Given the description of an element on the screen output the (x, y) to click on. 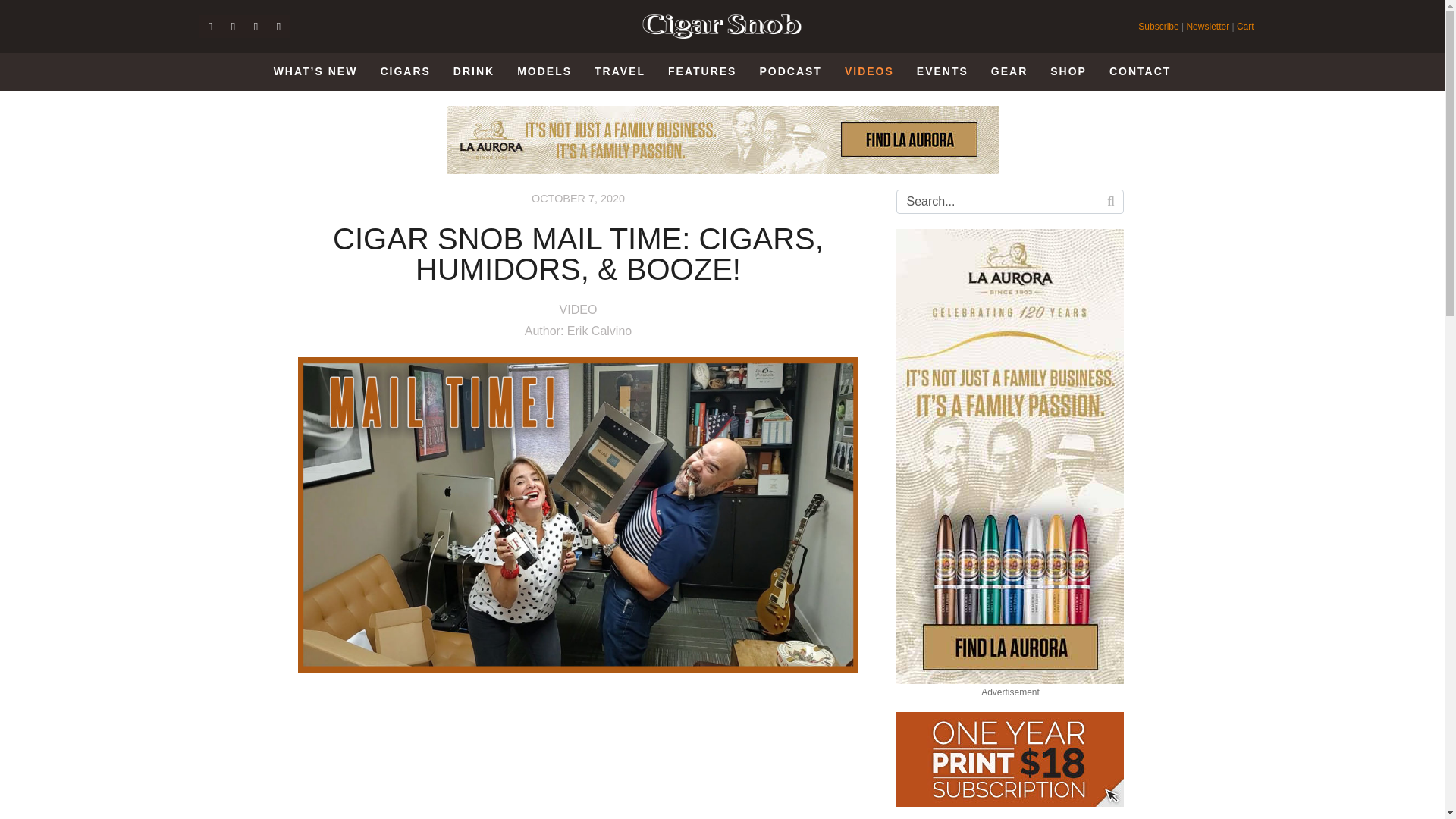
PODCAST (790, 71)
EVENTS (942, 71)
MODELS (544, 71)
GEAR (1008, 71)
FEATURES (701, 71)
VIDEOS (869, 71)
CONTACT (1139, 71)
Newsletter (1207, 26)
TRAVEL (620, 71)
Cart (1244, 26)
La Aurora Store Locator (1010, 456)
La Aurora Store Locator (721, 140)
CIGARS (404, 71)
SHOP (1068, 71)
DRINK (473, 71)
